Given the description of an element on the screen output the (x, y) to click on. 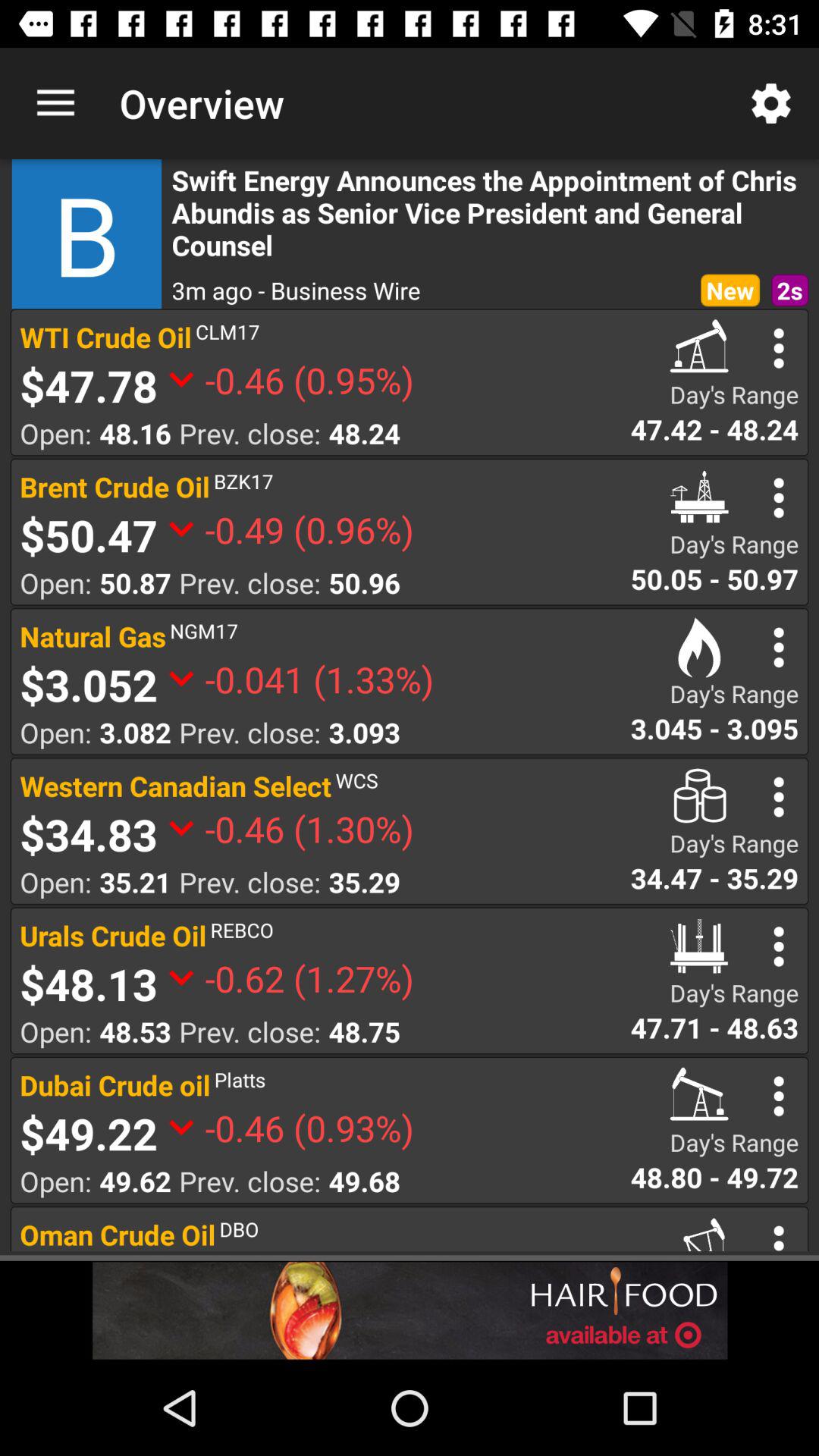
see the option (778, 647)
